Given the description of an element on the screen output the (x, y) to click on. 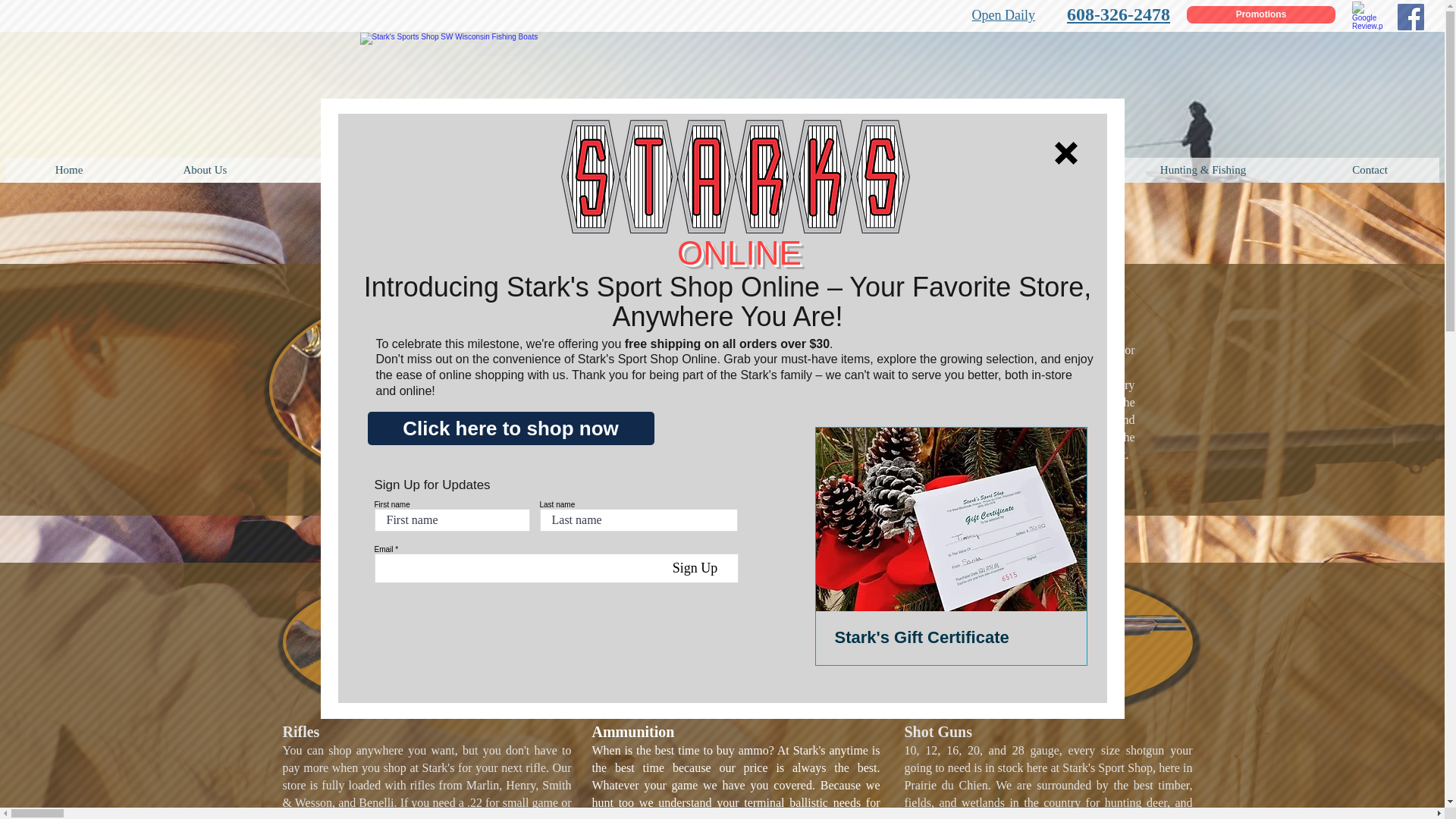
608-326-2478 (1118, 14)
About Us (205, 170)
Promotions (1260, 14)
Shop (339, 170)
Marine (860, 170)
Open Daily (1003, 14)
Contact (1369, 170)
Boat Sales (715, 170)
Home (68, 170)
Back to site (1065, 152)
Mercury Repower Center (520, 170)
